Given the description of an element on the screen output the (x, y) to click on. 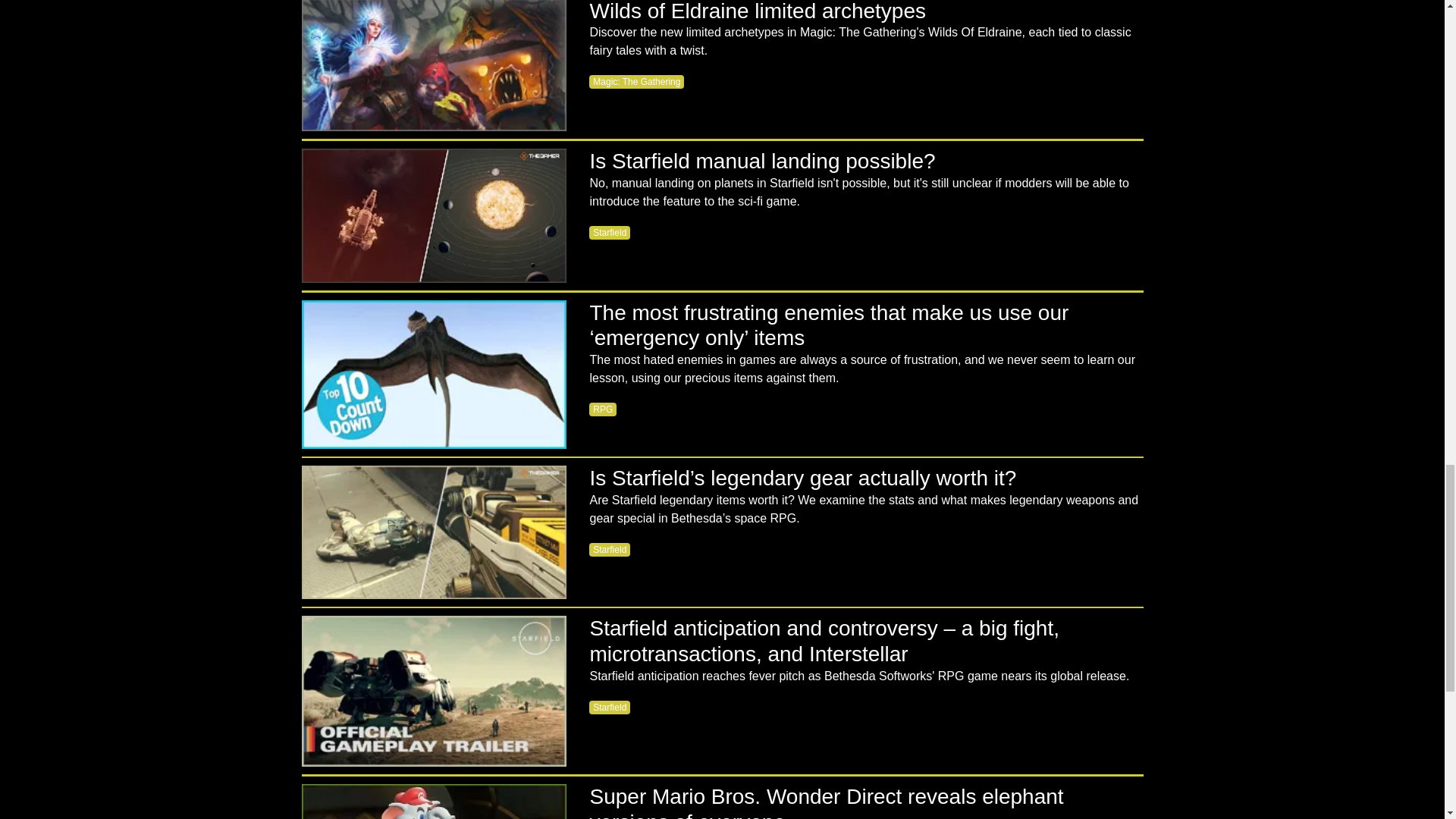
RPG (602, 409)
Wilds of Eldraine limited archetypes (434, 65)
Is Starfield manual landing possible? (434, 215)
Starfield (609, 232)
Magic: The Gathering (636, 81)
Starfield (609, 549)
Starfield (609, 707)
